Given the description of an element on the screen output the (x, y) to click on. 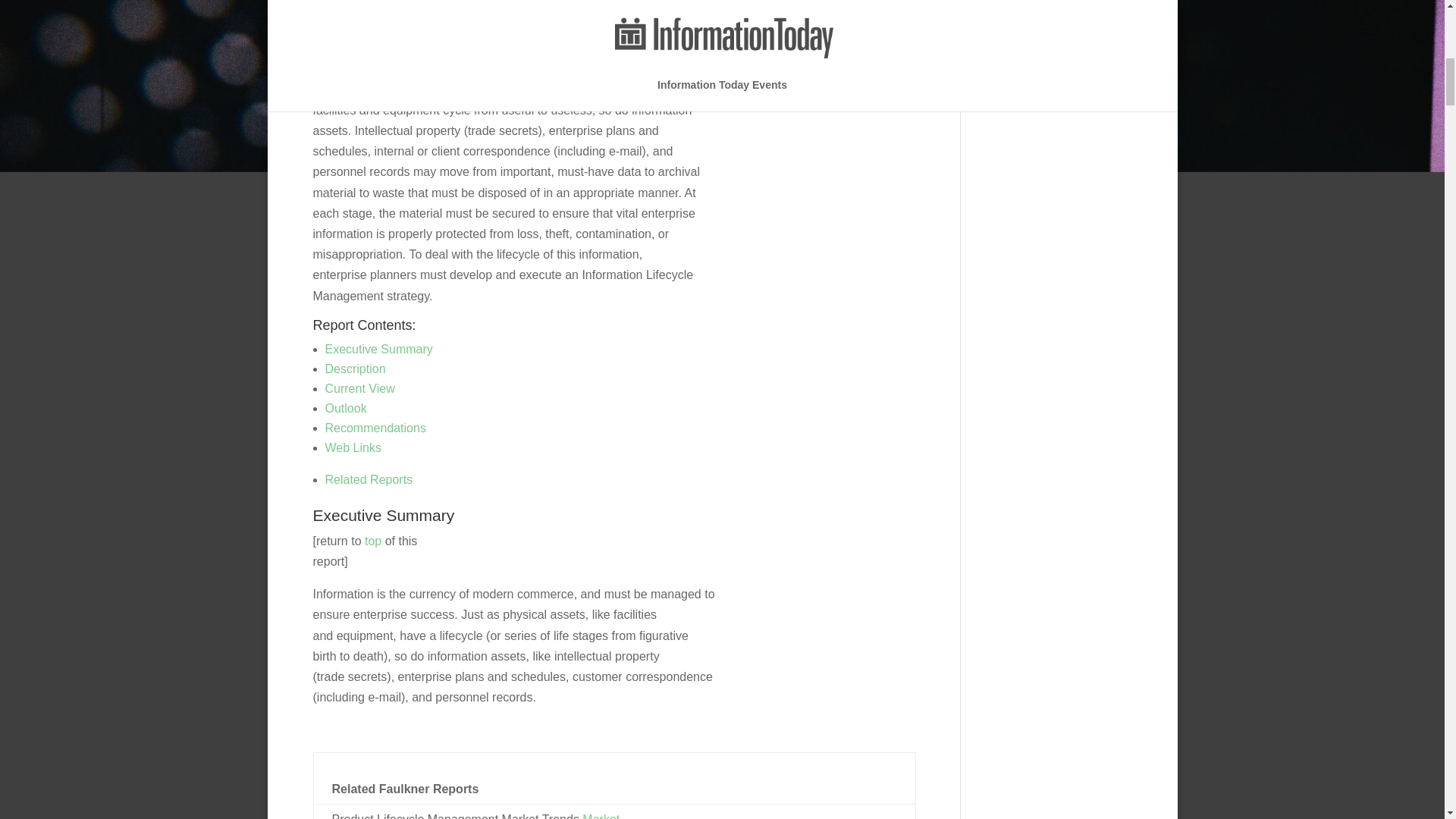
Current View (359, 388)
Web Links (352, 447)
Related Reports (368, 479)
top (373, 540)
Return to top of page (373, 540)
Market (601, 816)
Outlook (345, 408)
Executive Summary (378, 349)
Recommendations (374, 427)
Description (354, 368)
